Given the description of an element on the screen output the (x, y) to click on. 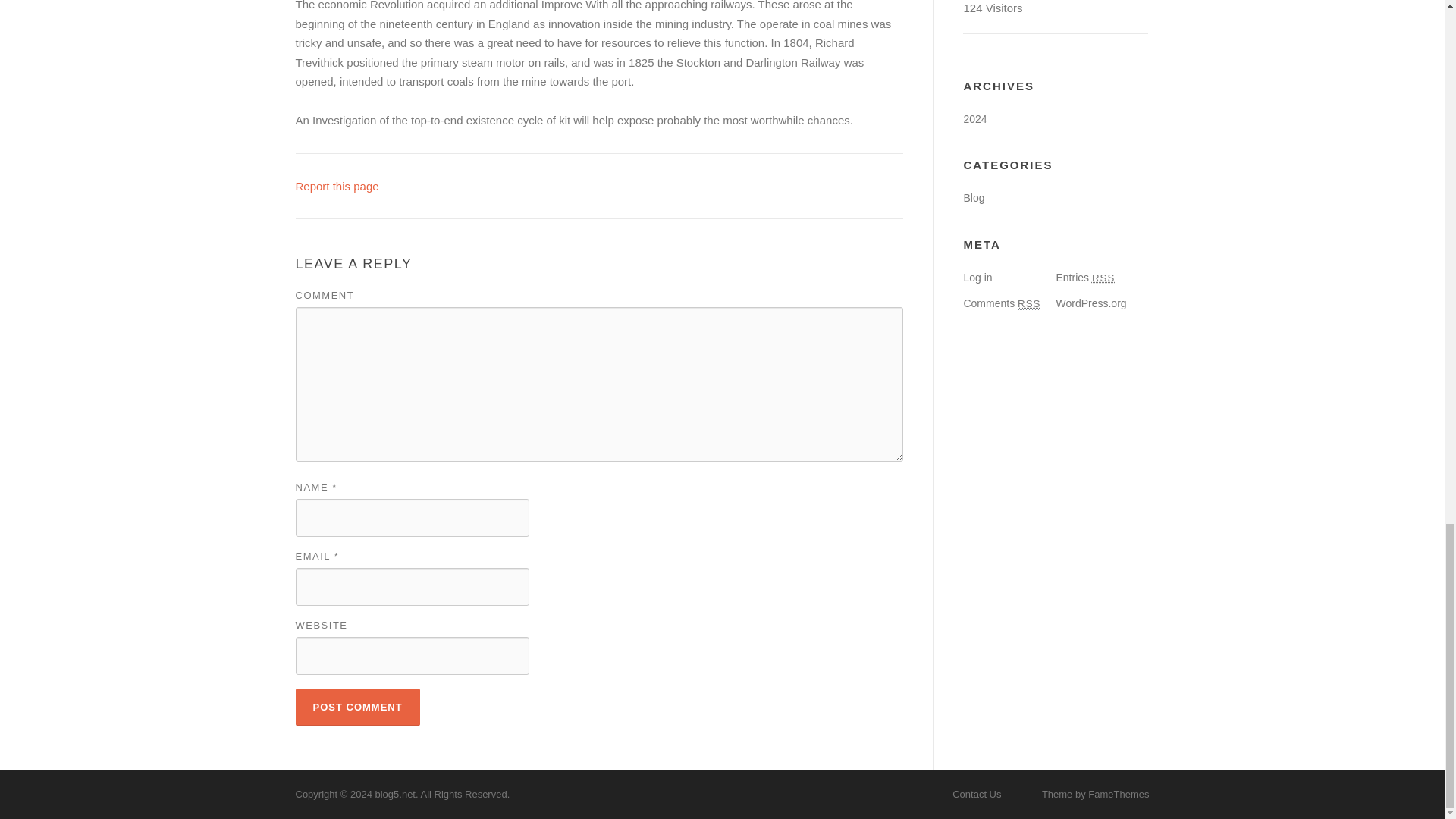
Really Simple Syndication (1103, 277)
Blog (973, 197)
Post Comment (357, 706)
Post Comment (357, 706)
Really Simple Syndication (1029, 304)
Comments RSS (1001, 303)
Report this page (336, 185)
Log in (976, 277)
2024 (974, 119)
Entries RSS (1085, 277)
WordPress.org (1090, 303)
